Given the description of an element on the screen output the (x, y) to click on. 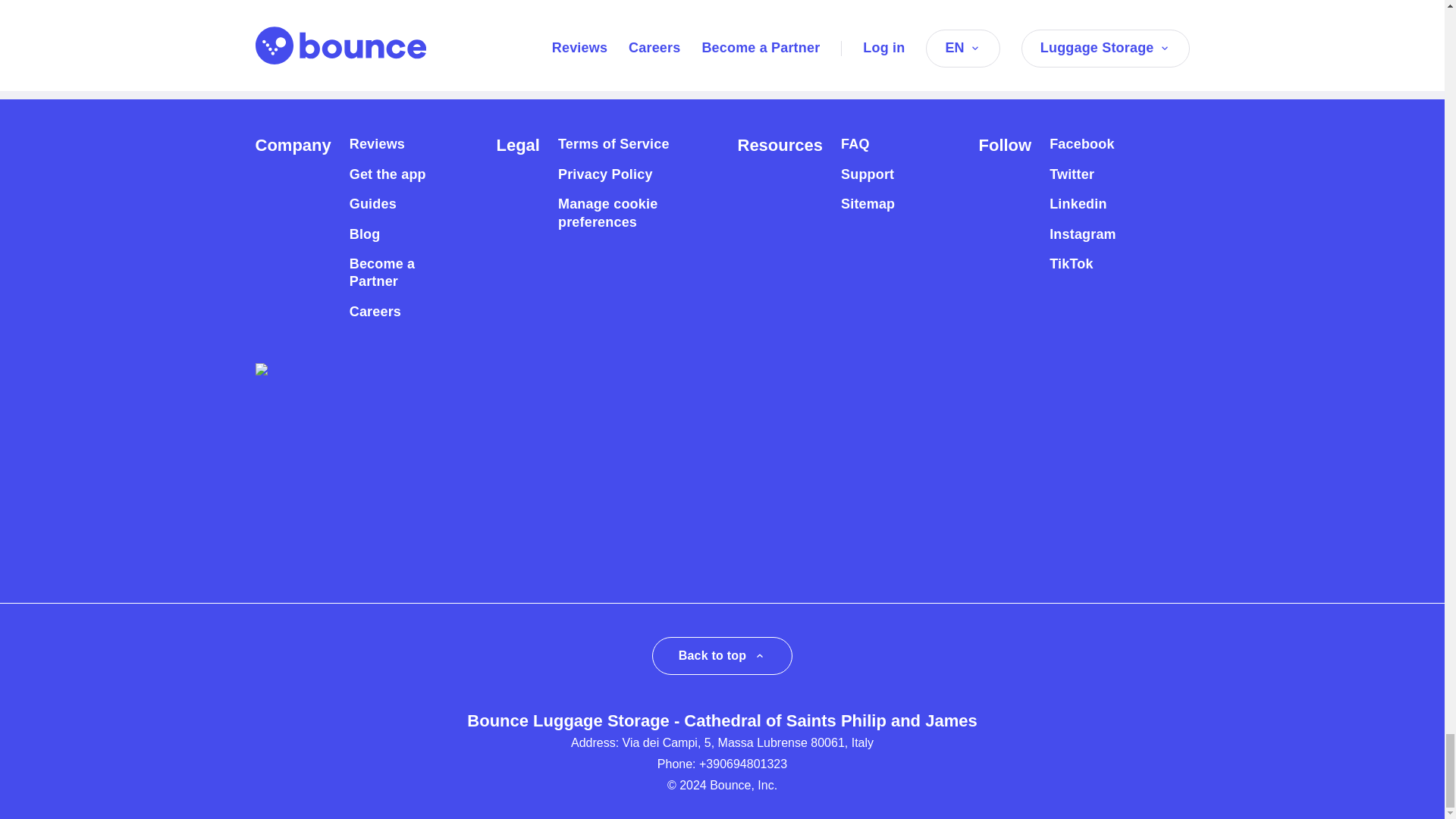
Terms of Service (613, 144)
Reviews (376, 144)
Privacy Policy (604, 174)
Careers (375, 312)
FAQ (855, 144)
Support (867, 174)
Manage cookie preferences (619, 212)
Get the app (387, 174)
Twitter (1071, 174)
Luggage Storage (384, 72)
